Given the description of an element on the screen output the (x, y) to click on. 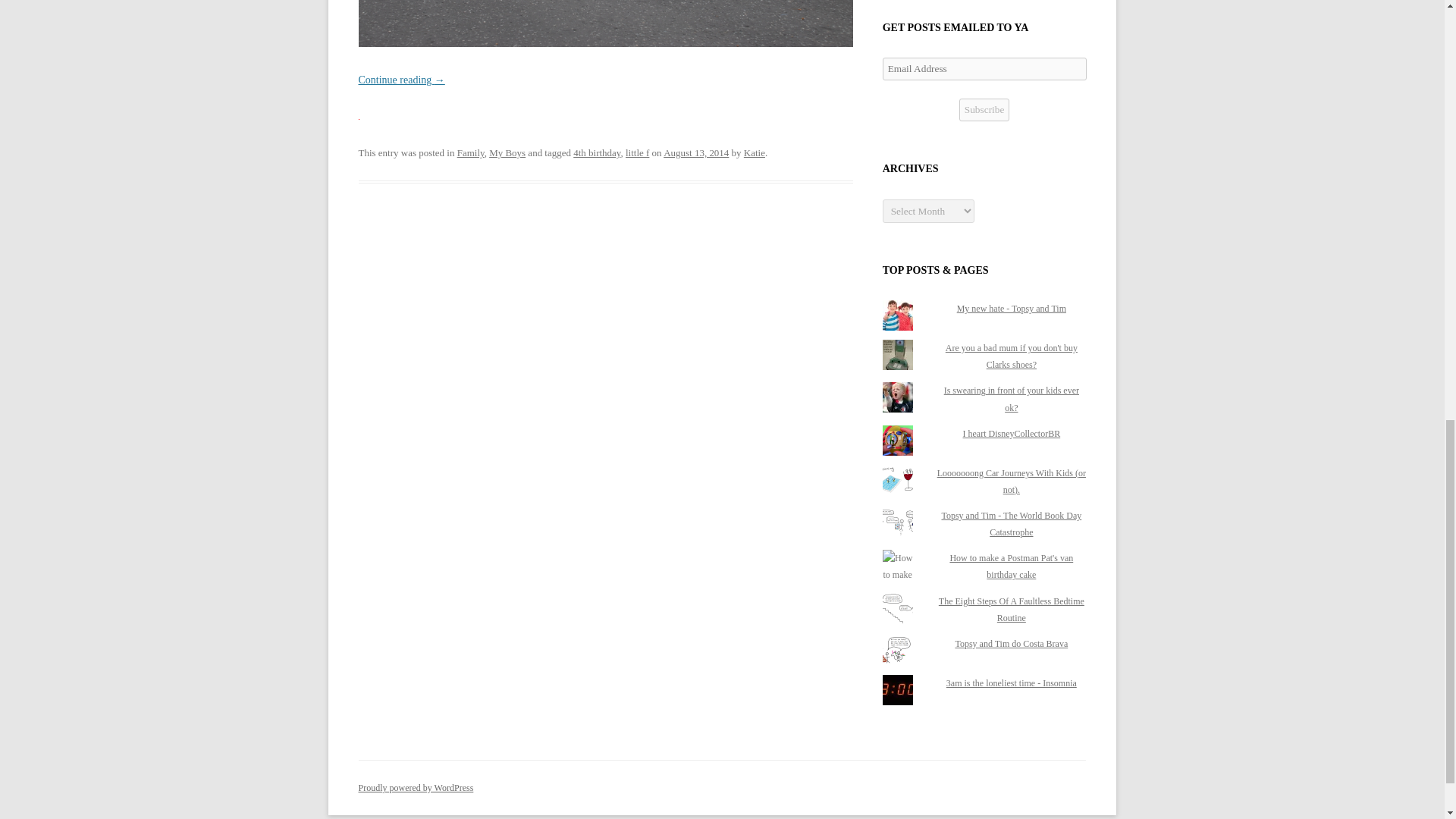
I heart DisneyCollectorBR (1011, 433)
My Boys (507, 152)
Are you a bad mum if you don't buy Clarks shoes? (1010, 356)
4th birthday (596, 152)
My new hate - Topsy and Tim (1010, 308)
Is swearing in front of your kids ever ok? (1010, 398)
I heart DisneyCollectorBR (1011, 433)
My new hate - Topsy and Tim (1010, 308)
Is swearing in front of your kids ever ok? (1010, 398)
Katie (754, 152)
Are you a bad mum if you don't buy Clarks shoes? (1010, 356)
The Eight Steps Of A Faultless Bedtime Routine (1011, 609)
How to make a Postman Pat's van birthday cake (1011, 565)
View all posts by Katie (754, 152)
August 13, 2014 (696, 152)
